Given the description of an element on the screen output the (x, y) to click on. 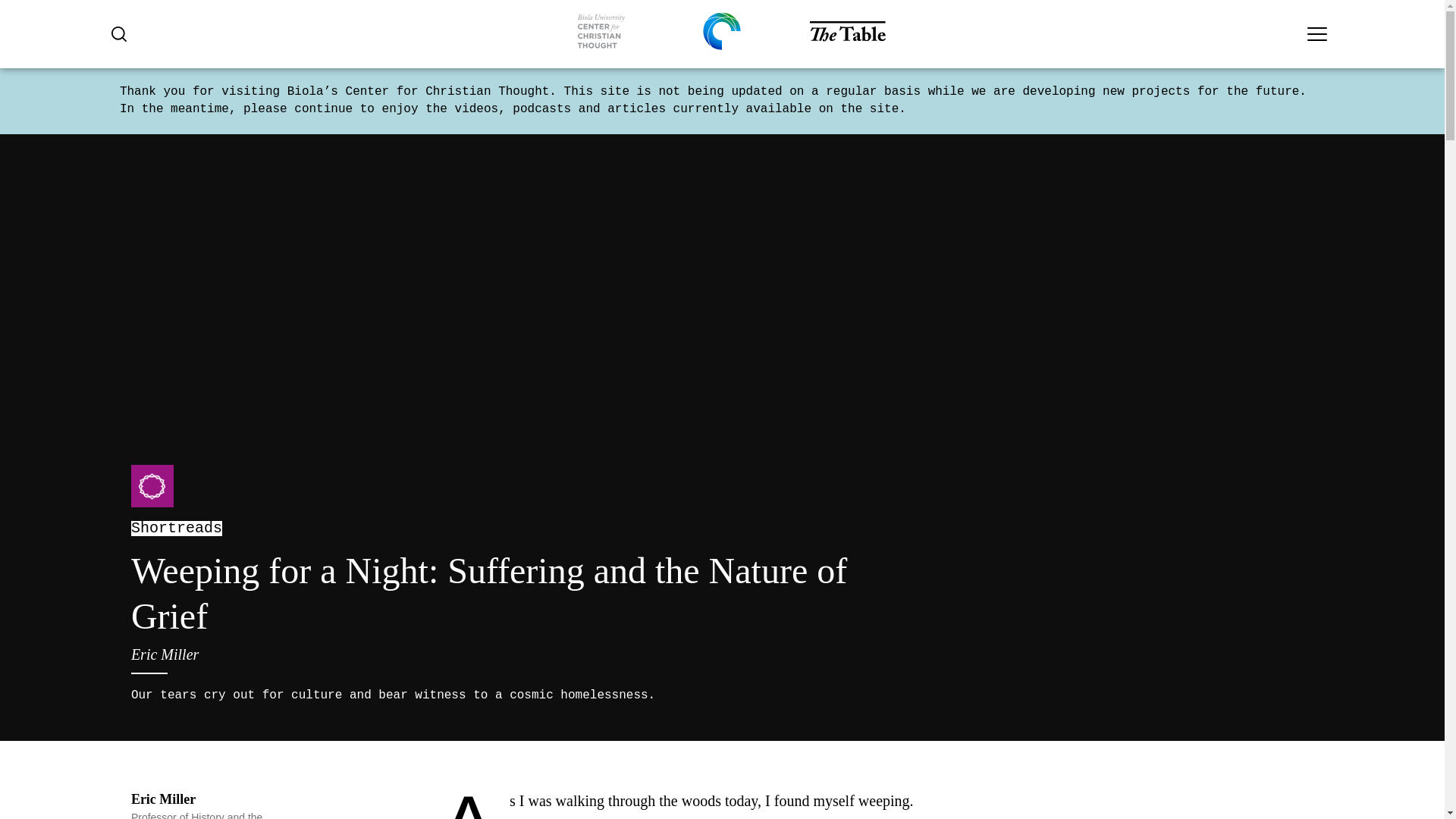
Home Page (600, 34)
Eric Miller (163, 798)
The Table (847, 33)
